Given the description of an element on the screen output the (x, y) to click on. 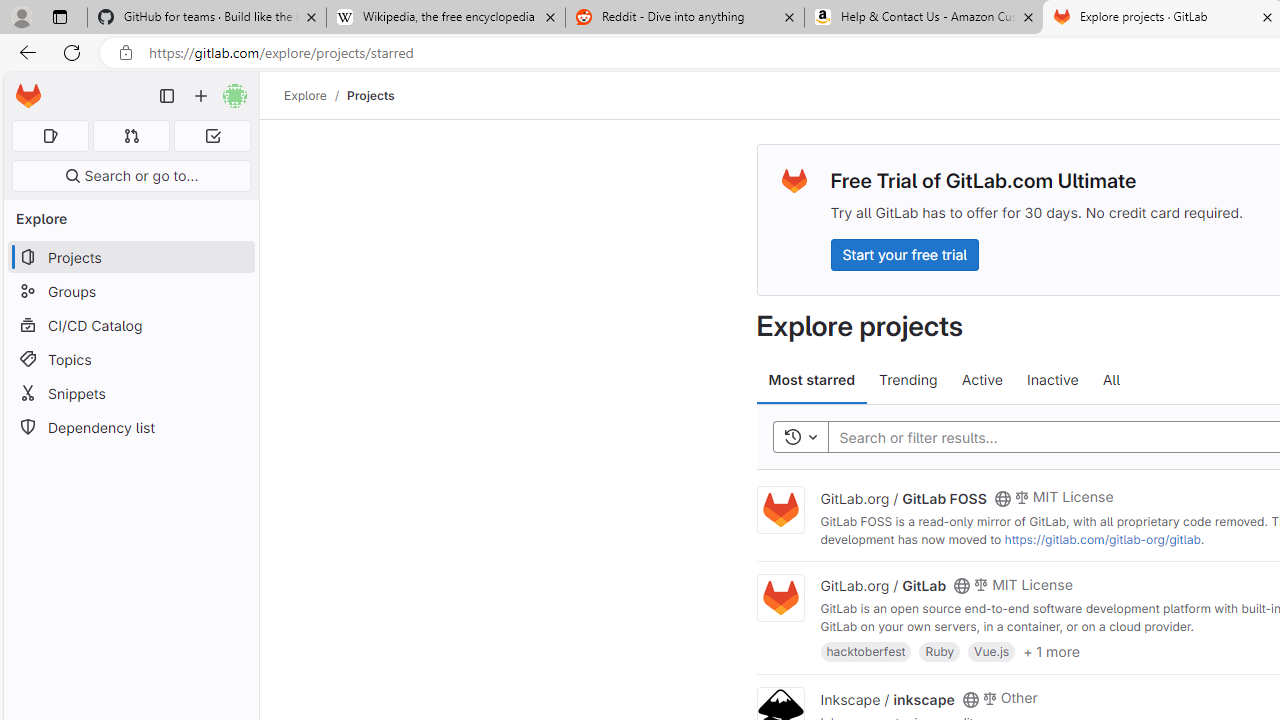
Topics (130, 358)
Vue.js (991, 650)
Toggle history (800, 437)
Snippets (130, 393)
Create new... (201, 96)
